Given the description of an element on the screen output the (x, y) to click on. 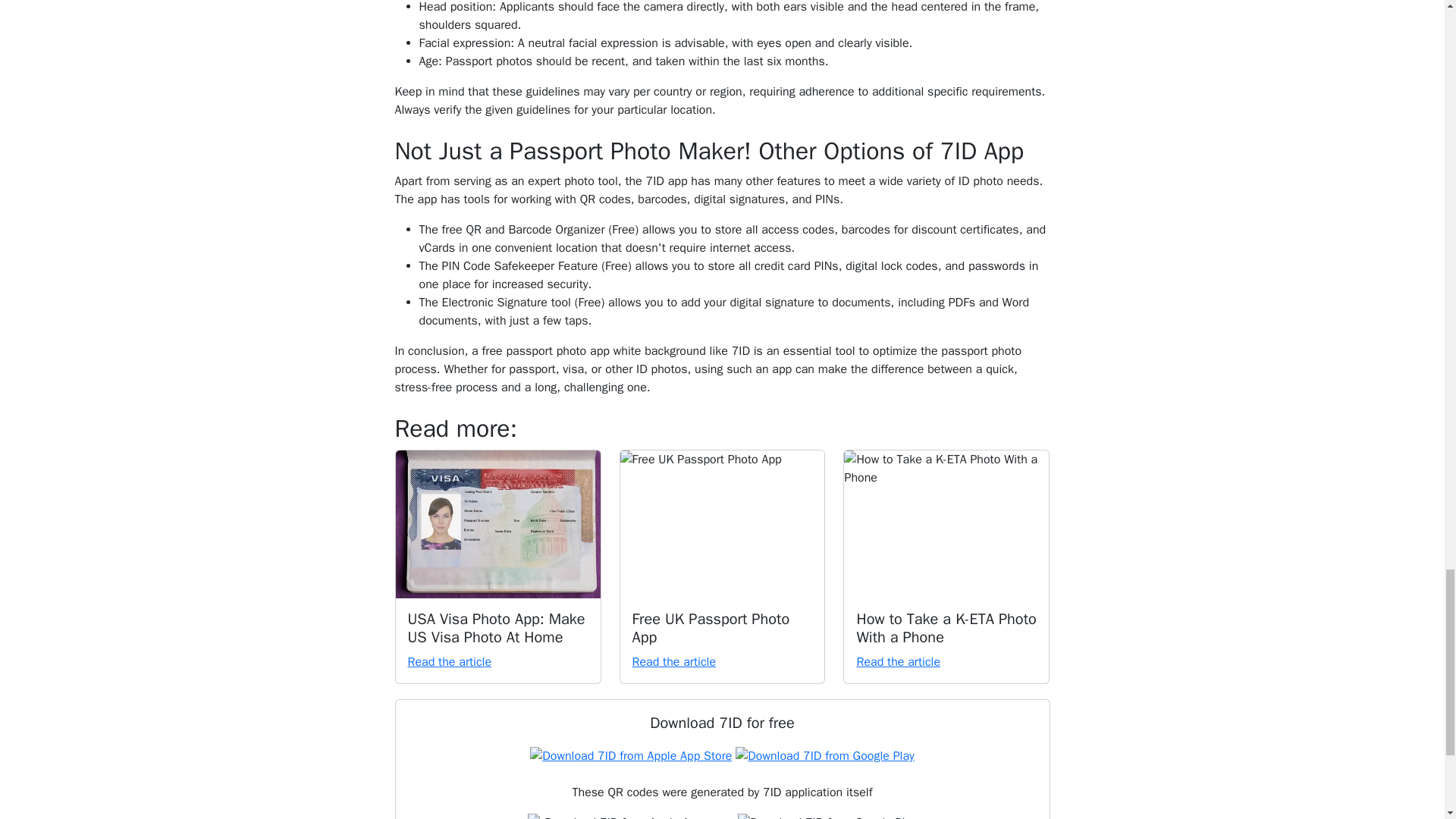
Read the article (449, 661)
Read the article (673, 661)
Read the article (898, 661)
